Given the description of an element on the screen output the (x, y) to click on. 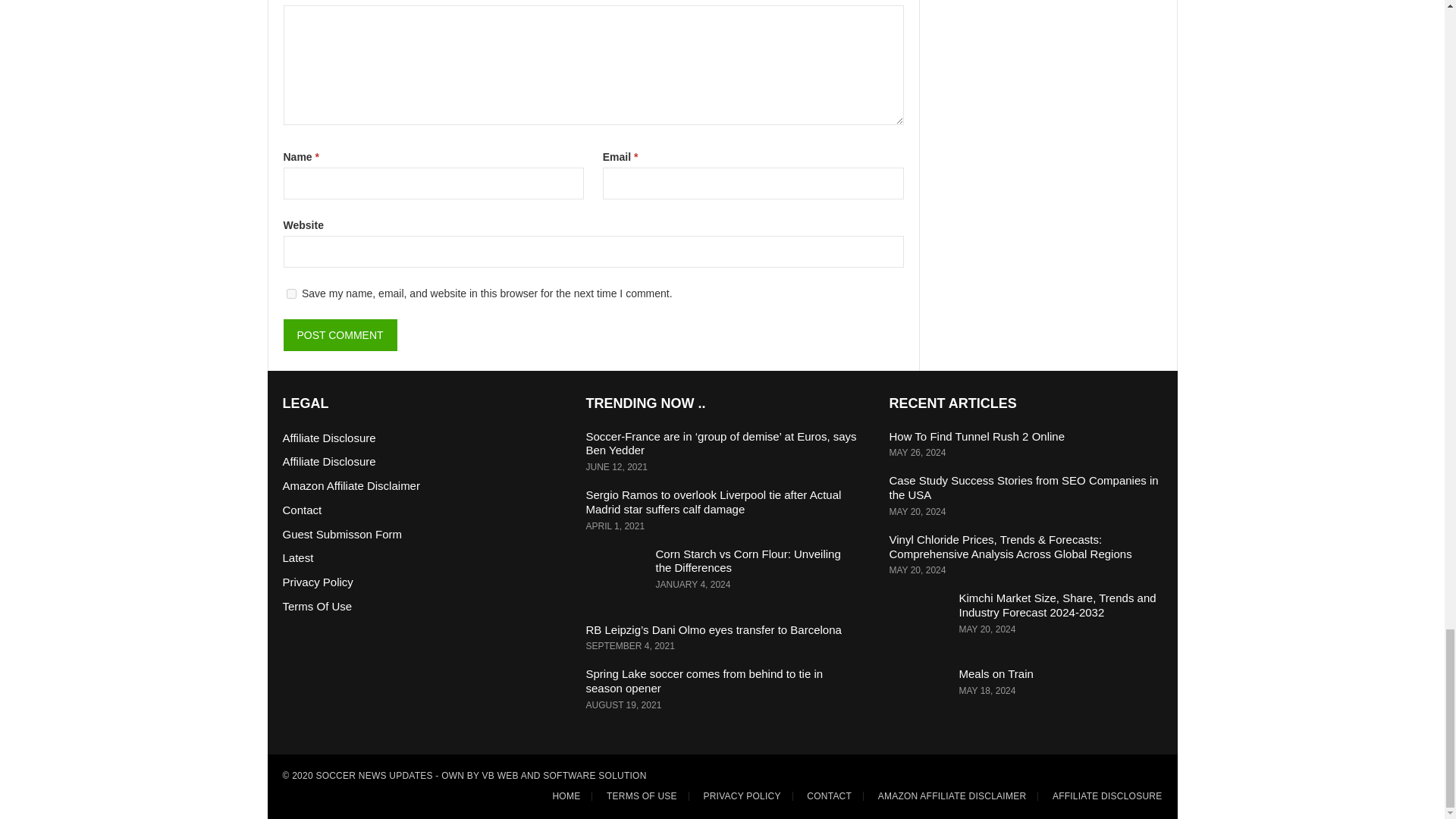
Post Comment (340, 335)
yes (291, 293)
